Given the description of an element on the screen output the (x, y) to click on. 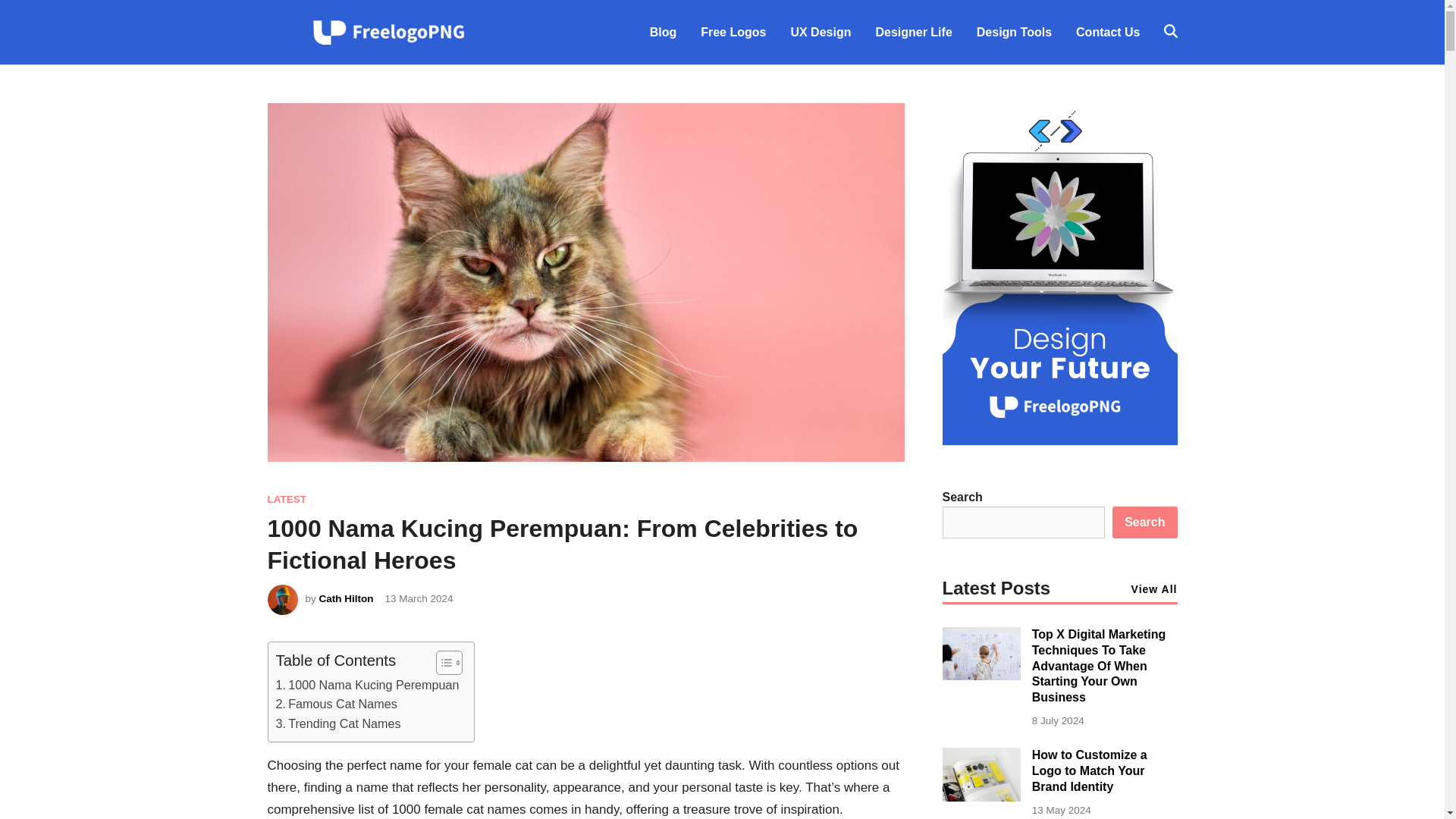
Designer Life (913, 32)
Free Logos (732, 32)
8 July 2024 (1058, 720)
Famous Cat Names (336, 704)
How to Customize a Logo to Match Your Brand Identity (1089, 770)
How to Customize a Logo to Match Your Brand Identity (981, 797)
1000 Nama Kucing Perempuan (368, 685)
13 May 2024 (1061, 809)
1000 Nama Kucing Perempuan (368, 685)
Search (1144, 522)
Cath Hilton (346, 598)
UX Design (820, 32)
LATEST (285, 498)
